Given the description of an element on the screen output the (x, y) to click on. 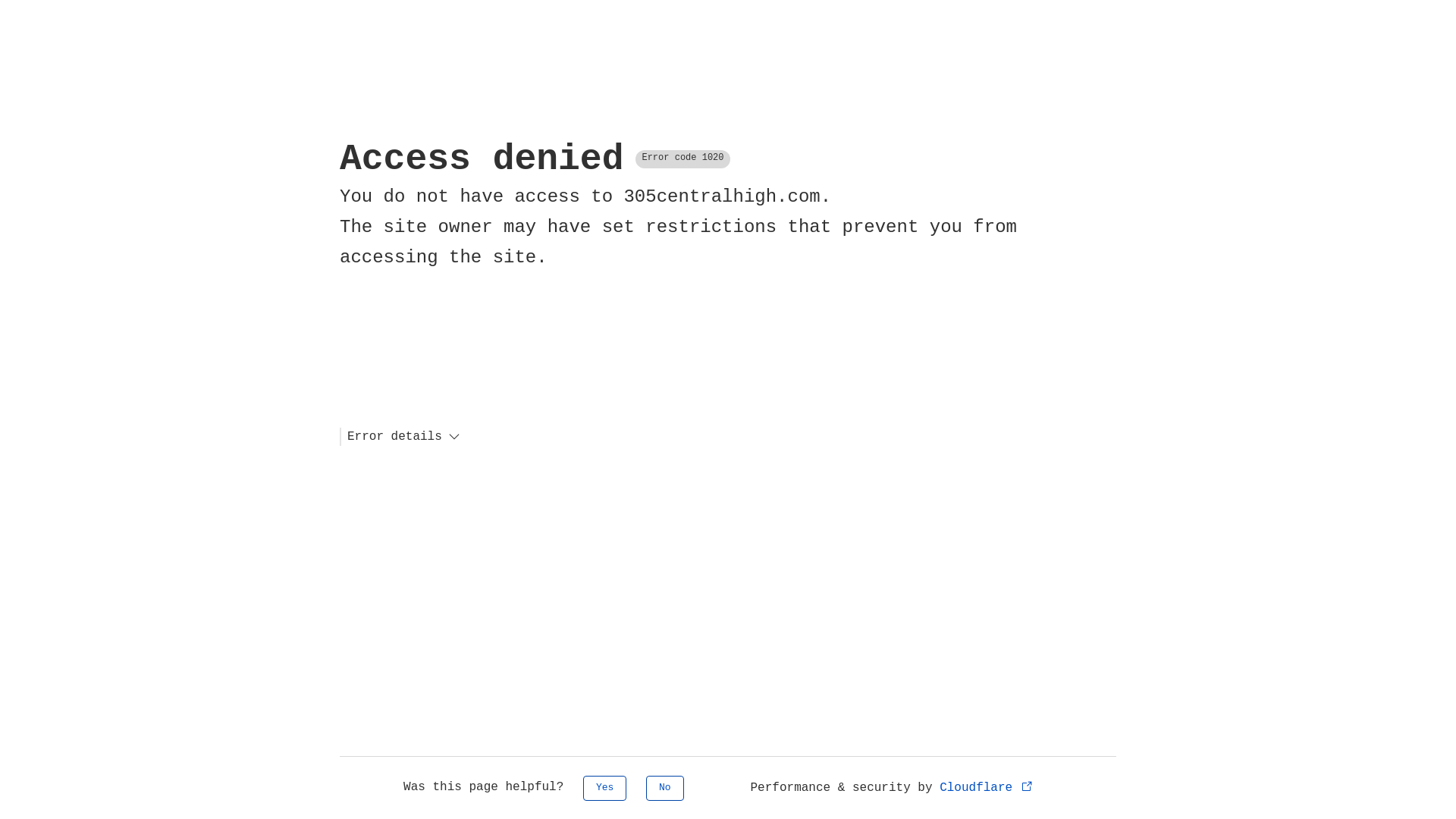
Yes Element type: text (604, 787)
Cloudflare Element type: text (986, 787)
Opens in new tab Element type: hover (1027, 785)
No Element type: text (665, 787)
